Given the description of an element on the screen output the (x, y) to click on. 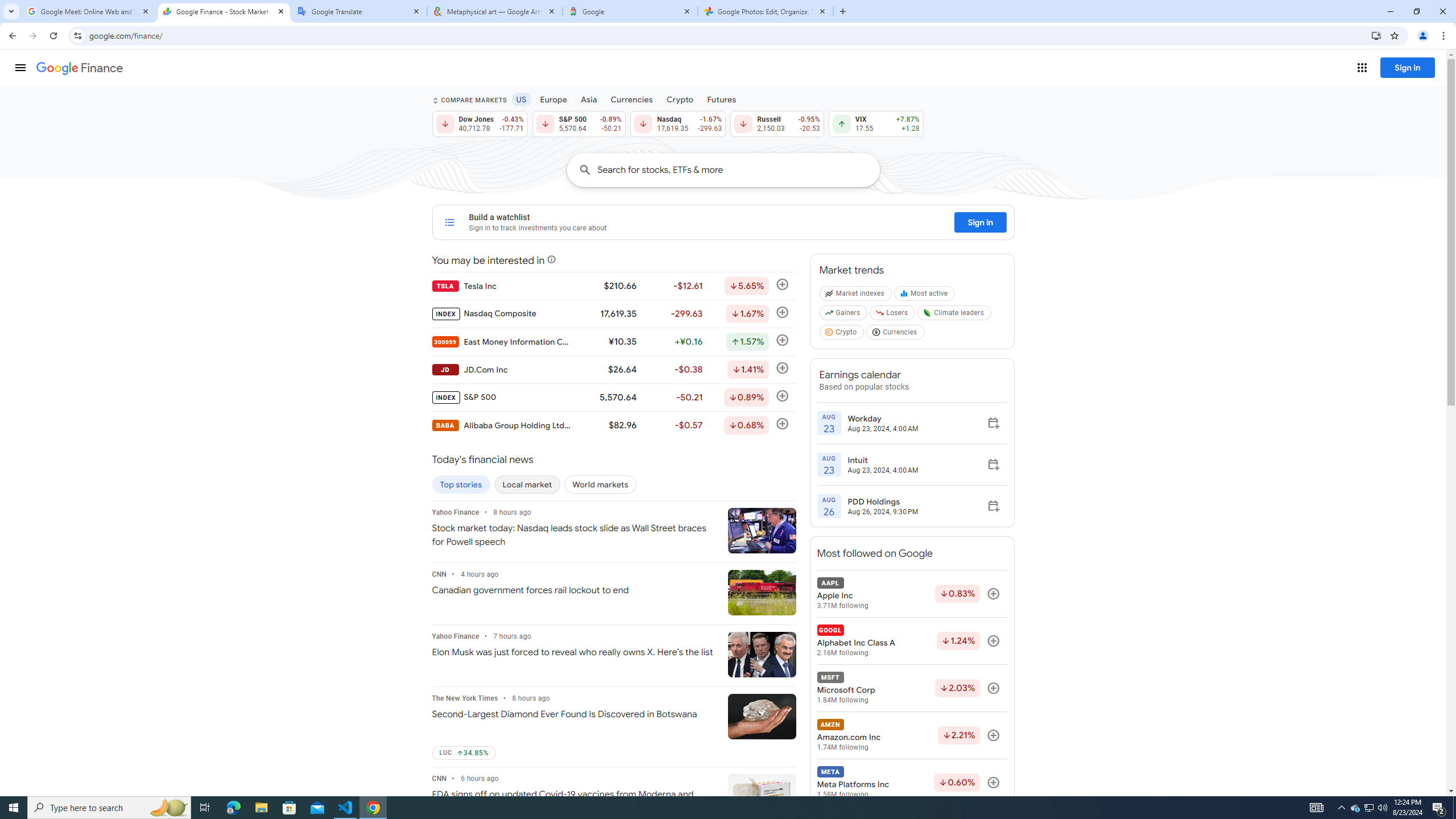
Europe (553, 99)
LUC Up by 34.85% (463, 753)
PDD Holdings (882, 501)
MSFT Microsoft Corp 1.84M following Down by 2.03% Follow (911, 688)
GLeaf logo Climate leaders (954, 315)
Finance (79, 68)
Main menu (20, 67)
World markets (600, 484)
